Given the description of an element on the screen output the (x, y) to click on. 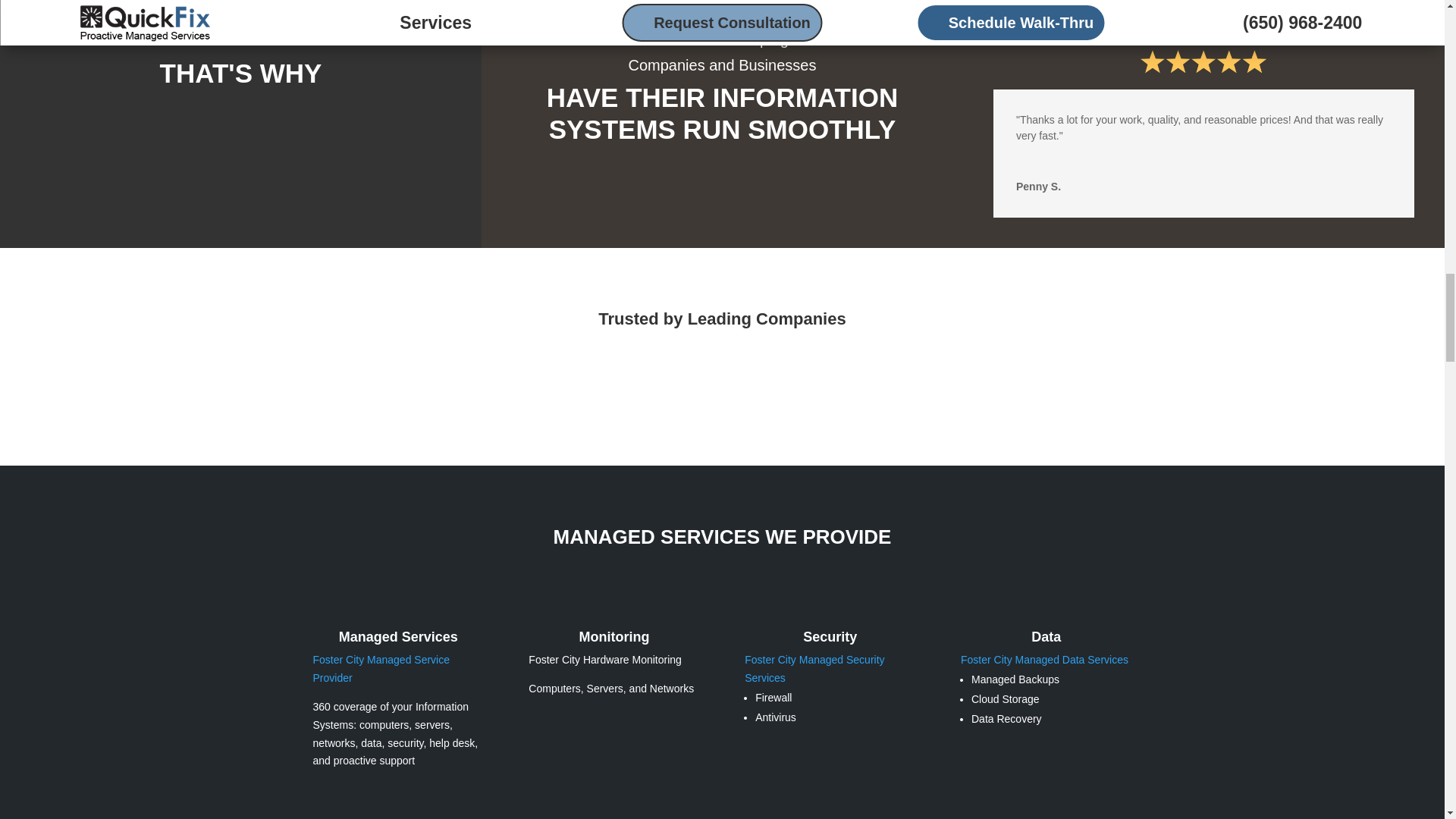
Foster City Managed Data Services (1044, 659)
Foster City Managed Service Provider (381, 668)
Foster City Managed Security Services (813, 668)
5-star (1203, 61)
